Given the description of an element on the screen output the (x, y) to click on. 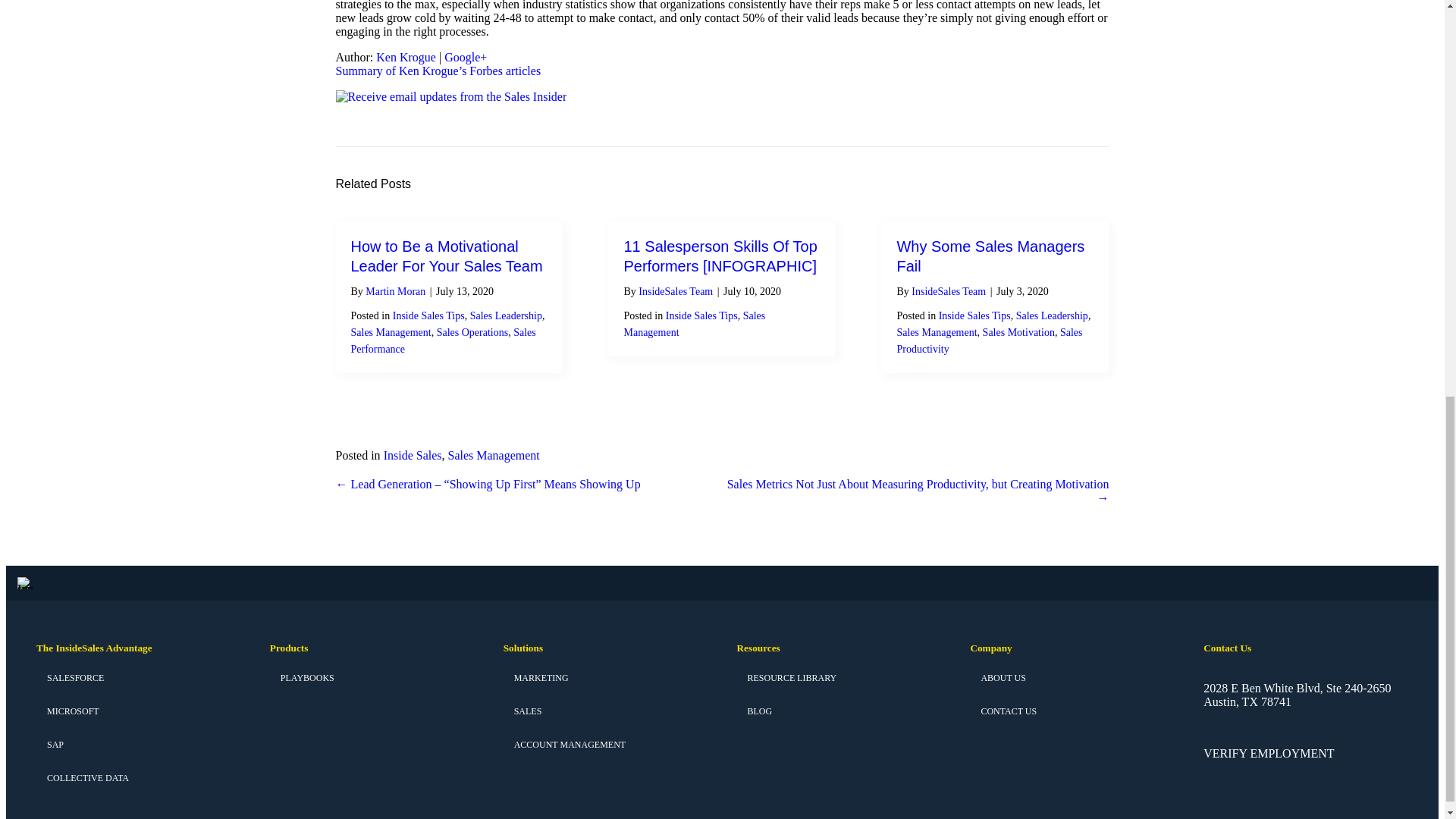
How to Be a Motivational Leader For Your Sales Team (445, 256)
InsideSales-Logo-small (24, 582)
Subscribe to the Sales Insider (450, 97)
Why Some Sales Managers Fail (990, 256)
